Given the description of an element on the screen output the (x, y) to click on. 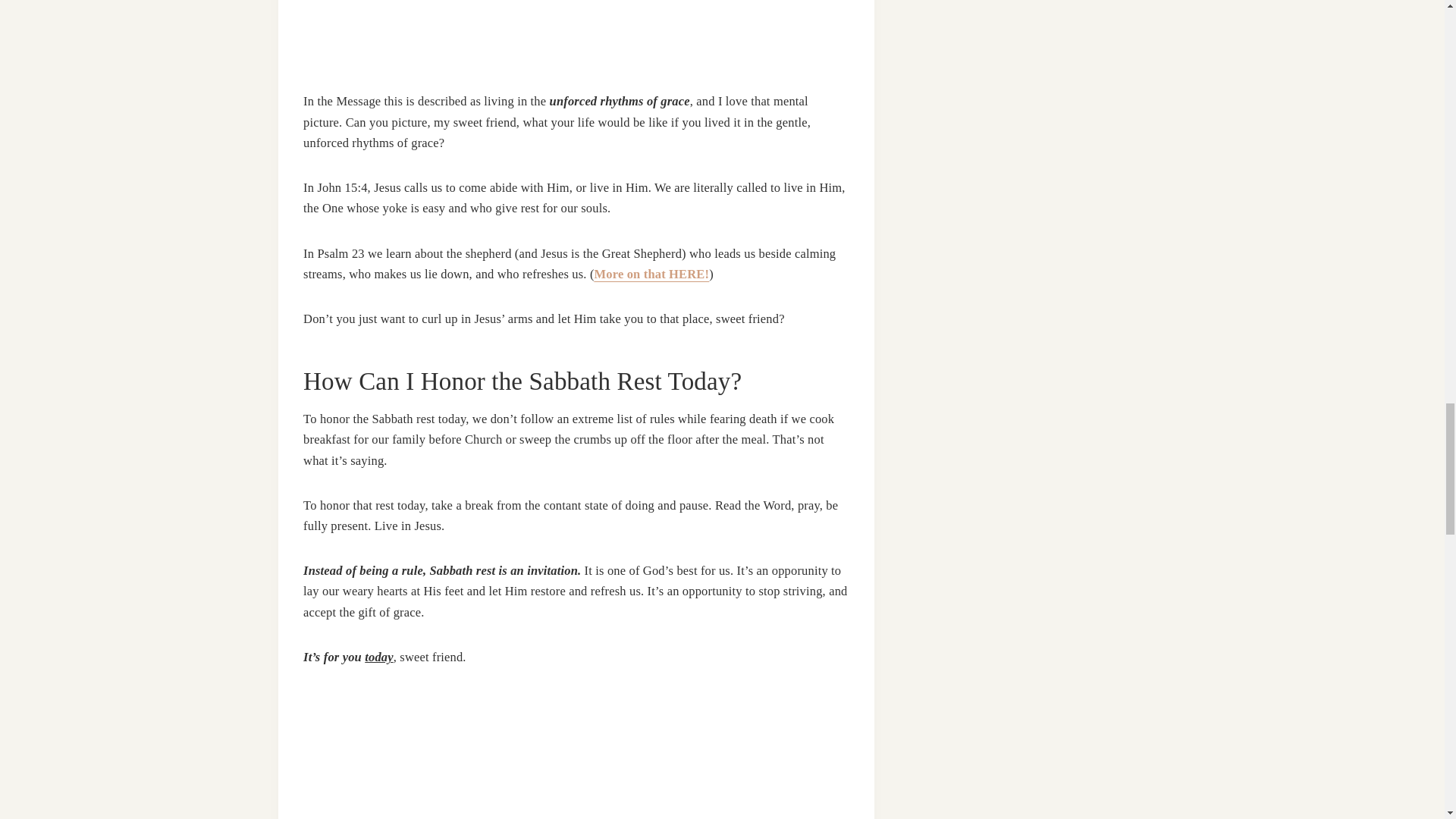
More on that HERE! (652, 273)
